Given the description of an element on the screen output the (x, y) to click on. 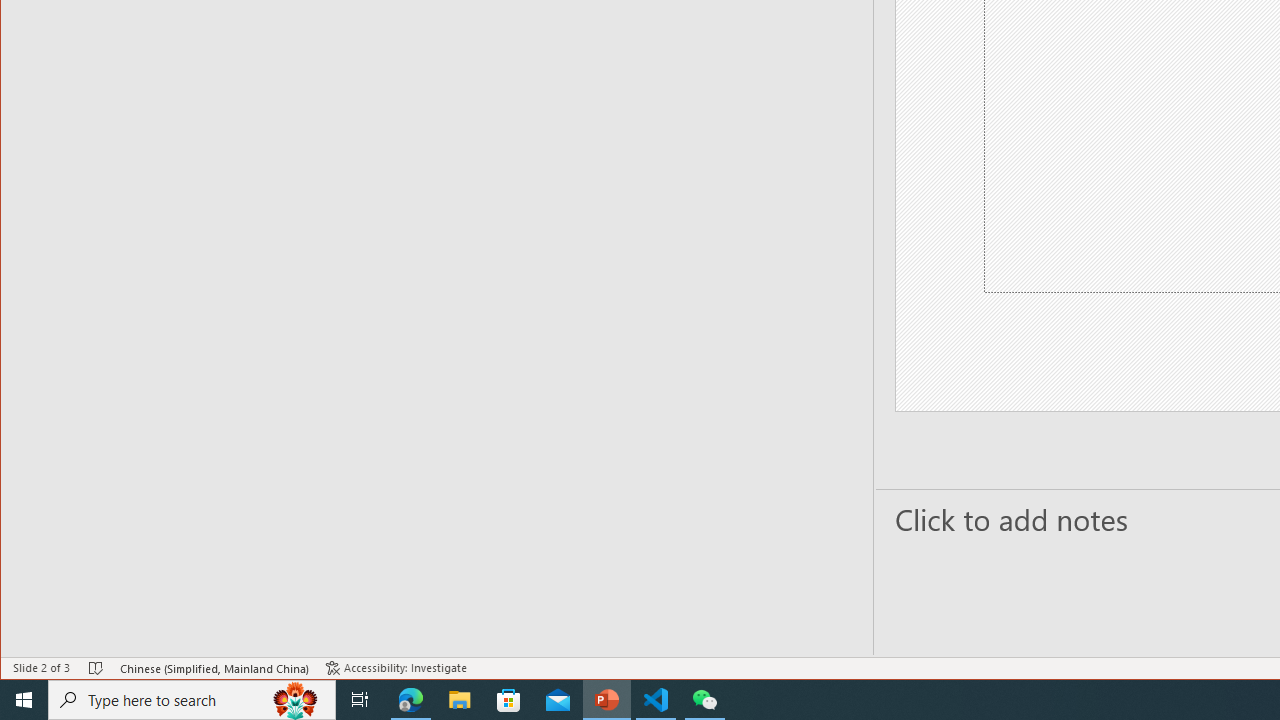
WeChat - 1 running window (704, 699)
Microsoft Edge - 1 running window (411, 699)
